Given the description of an element on the screen output the (x, y) to click on. 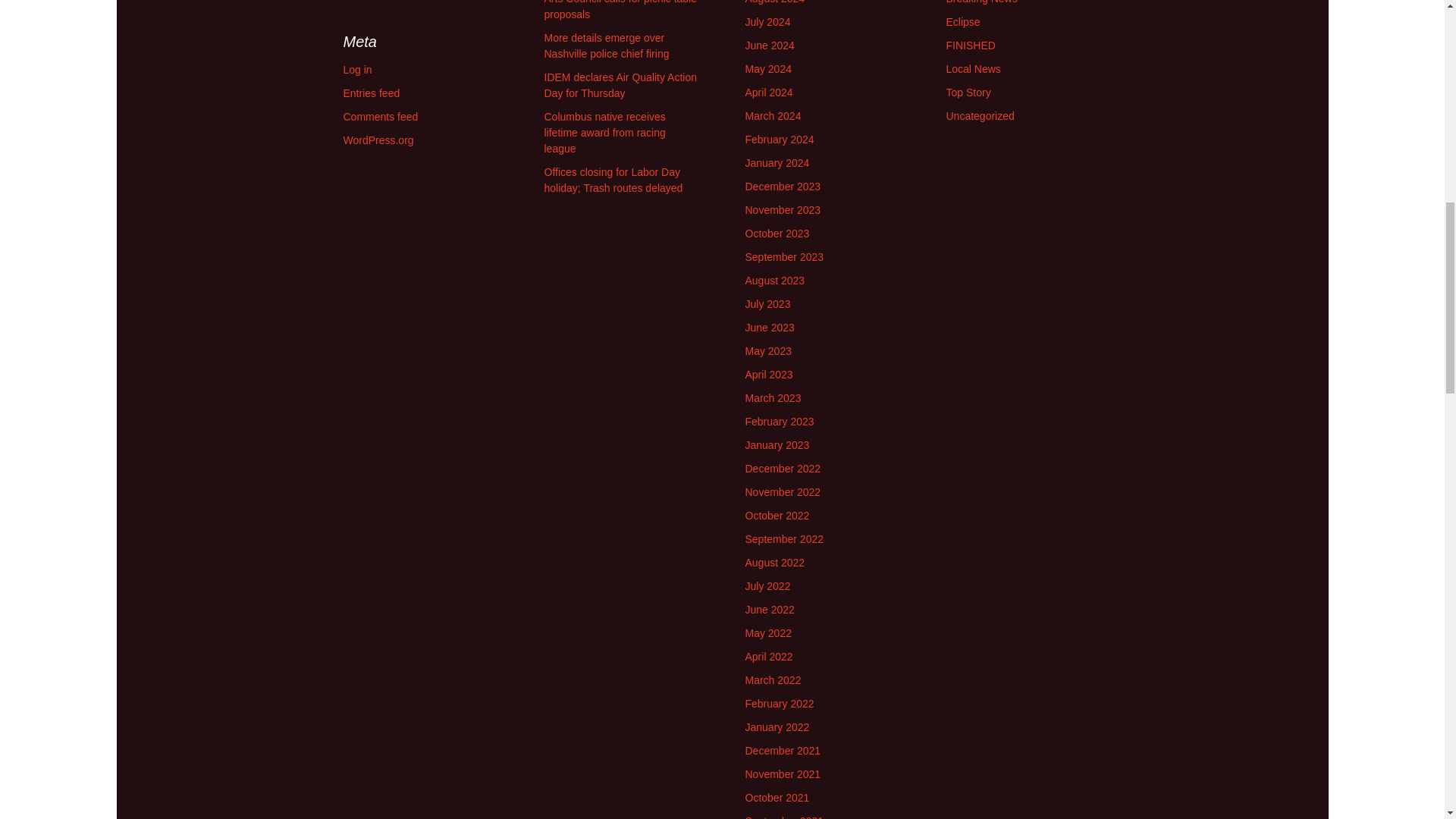
Arts Council calls for picnic table proposals (620, 10)
January 2023 (776, 444)
November 2023 (782, 209)
December 2023 (782, 186)
July 2023 (767, 304)
September 2023 (784, 256)
June 2024 (768, 45)
August 2023 (774, 280)
November 2022 (782, 491)
April 2023 (768, 374)
